Given the description of an element on the screen output the (x, y) to click on. 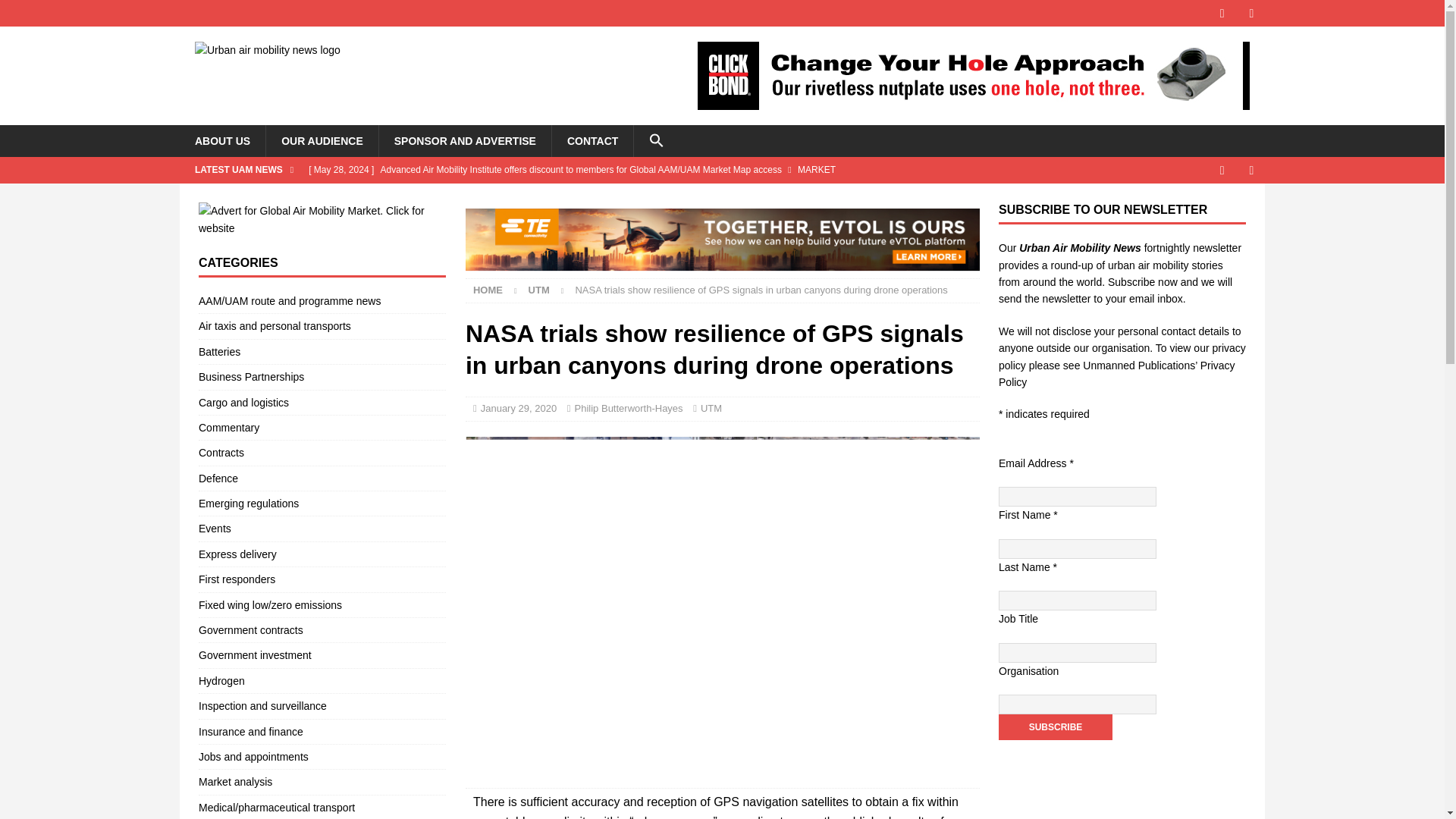
UTM (539, 289)
Air taxis and personal transports (321, 325)
HOME (487, 289)
ABOUT US (221, 141)
Home (487, 289)
SPONSOR AND ADVERTISE (464, 141)
Subscribe (1055, 727)
Business Partnerships (321, 376)
OUR AUDIENCE (321, 141)
Batteries (321, 351)
